Given the description of an element on the screen output the (x, y) to click on. 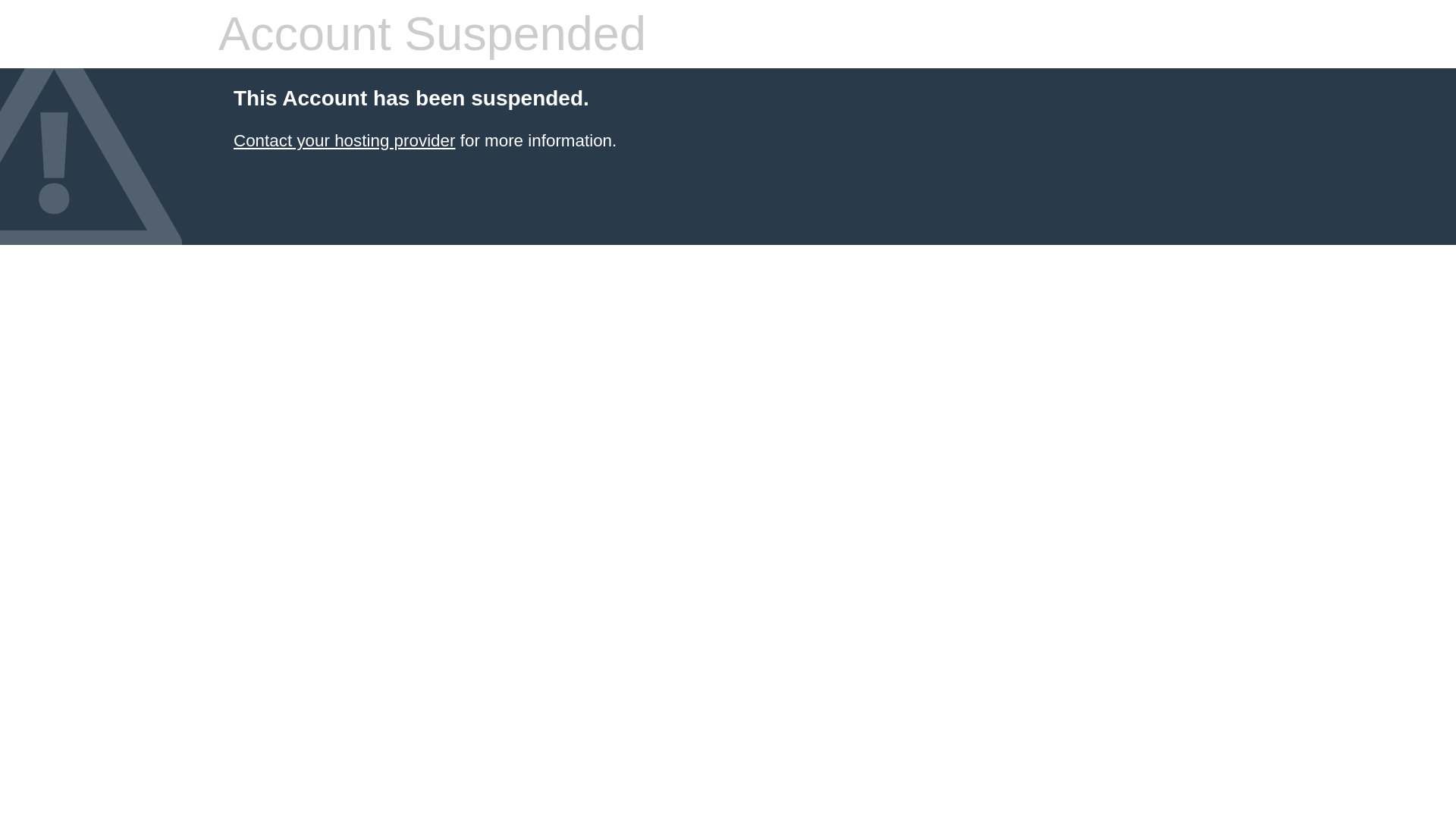
Contact your hosting provider (343, 140)
